Given the description of an element on the screen output the (x, y) to click on. 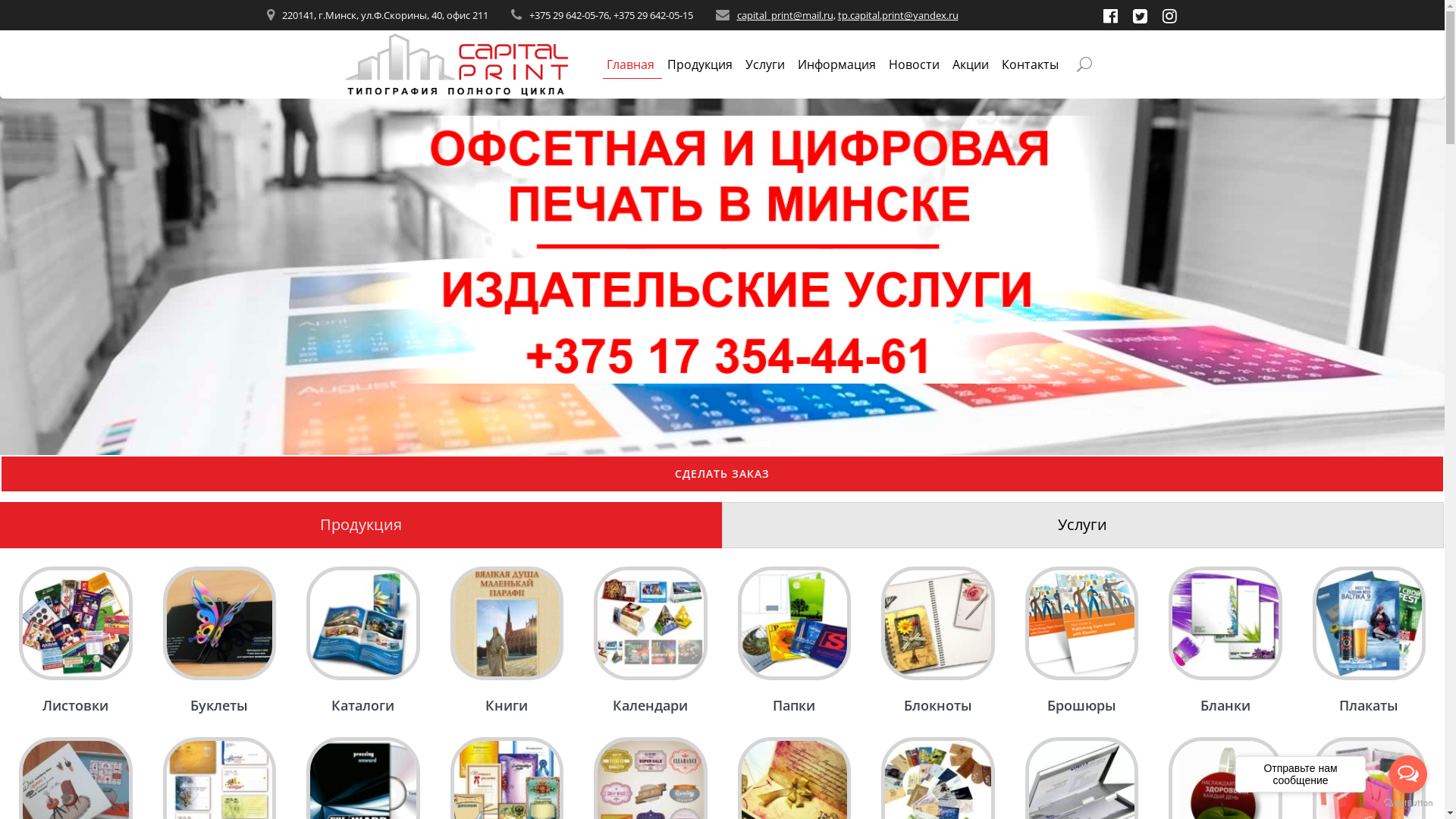
tp.capital.print@yandex.ru Element type: text (897, 14)
capital_print@mail.ru Element type: text (785, 14)
